Given the description of an element on the screen output the (x, y) to click on. 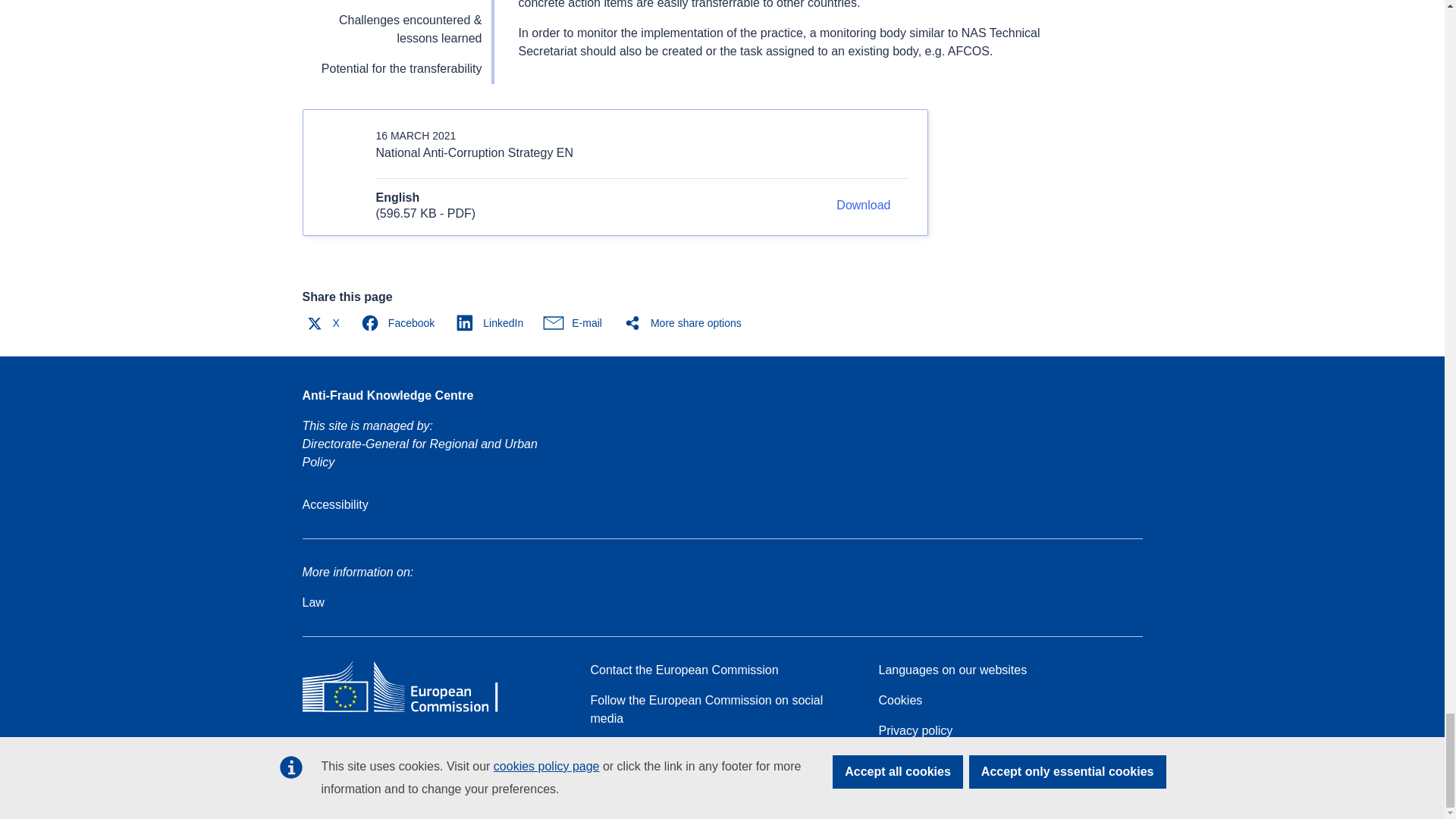
European Commission (411, 711)
